Given the description of an element on the screen output the (x, y) to click on. 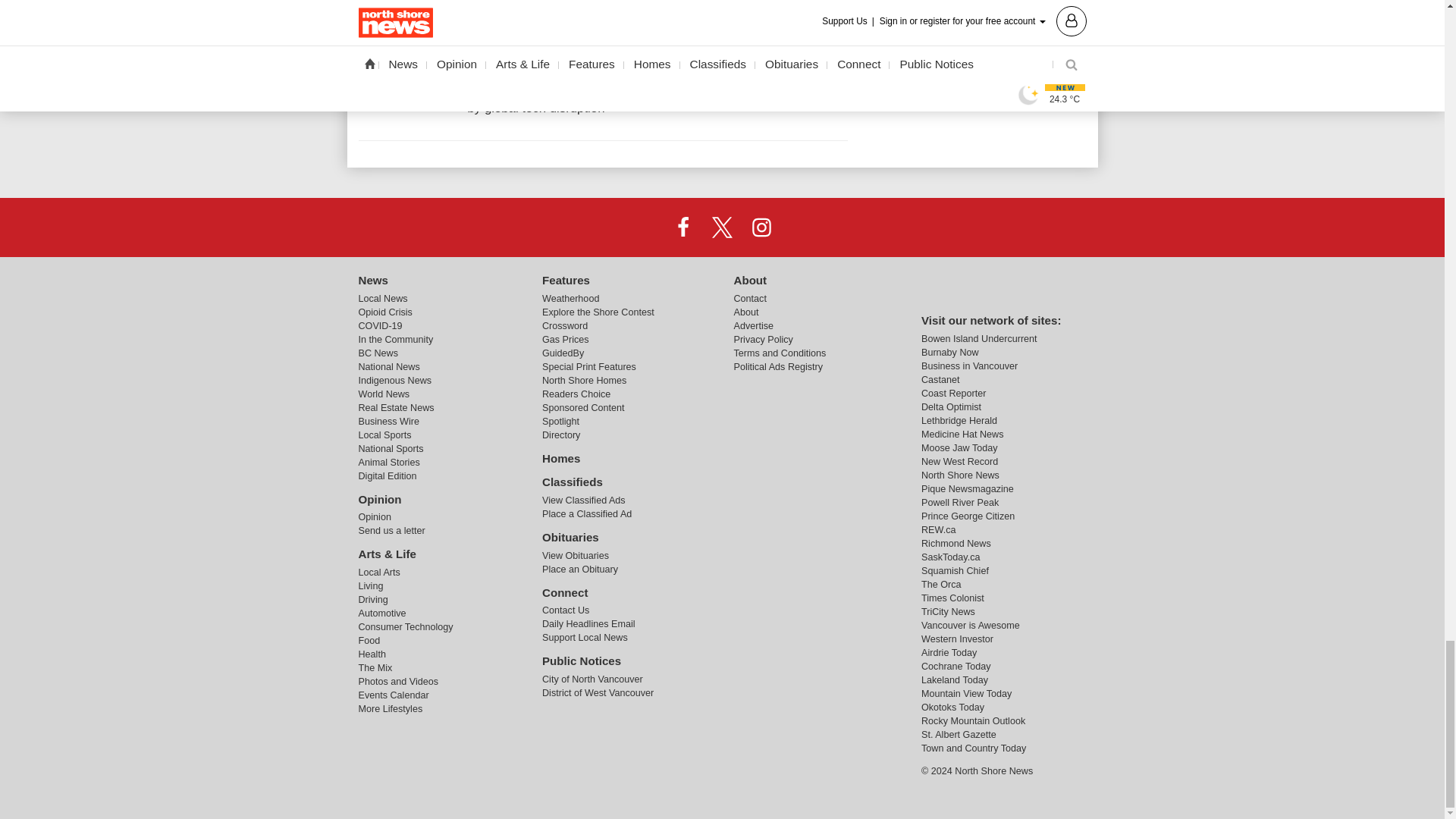
Facebook (683, 226)
X (721, 226)
Instagram (760, 226)
